Given the description of an element on the screen output the (x, y) to click on. 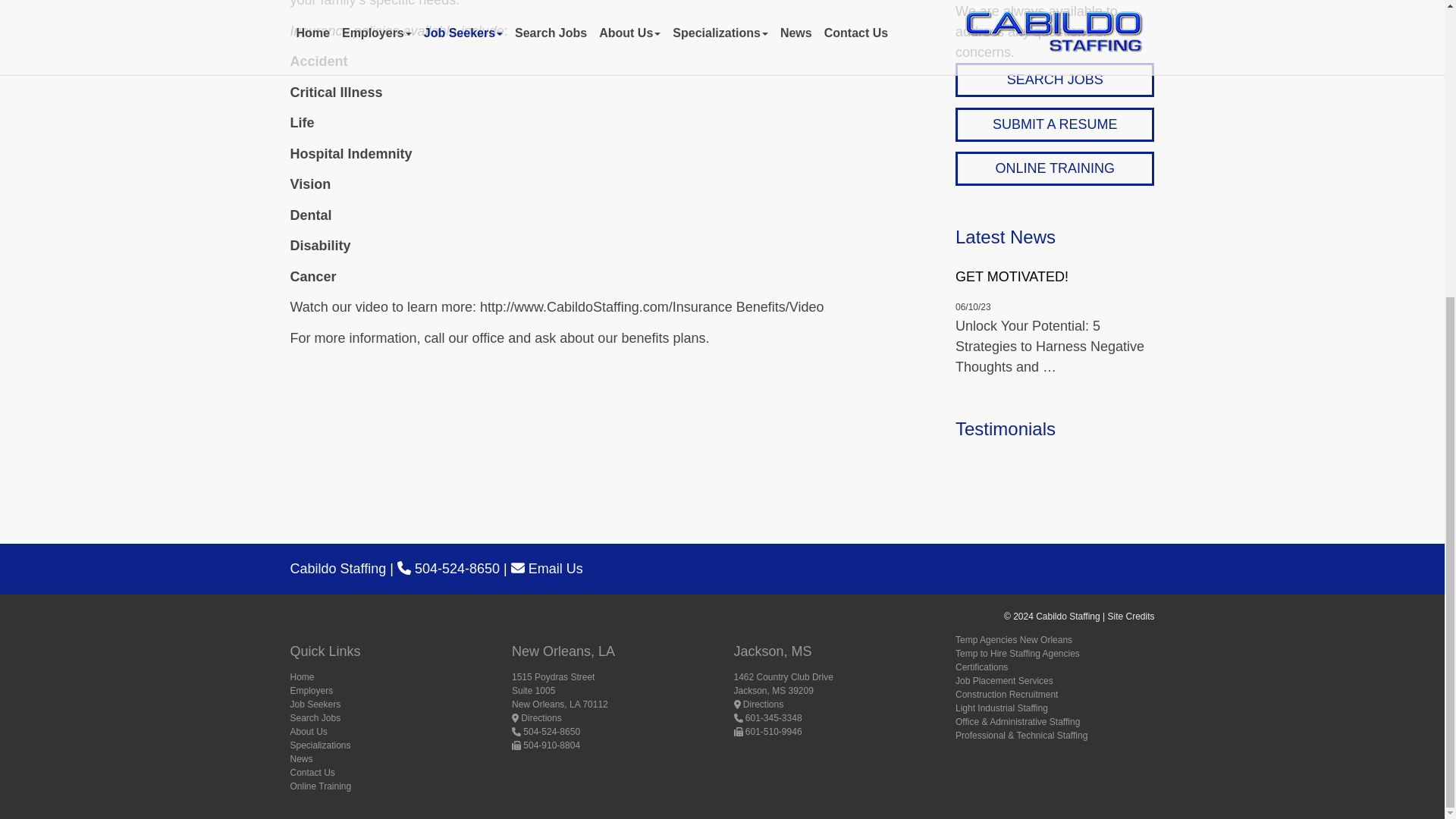
ONLINE TRAINING (1054, 168)
Home (301, 676)
GET MOTIVATED! (1054, 277)
Employers (311, 690)
Latest News (1005, 236)
SEARCH JOBS (1054, 80)
Latest News (1005, 236)
Email Us (547, 568)
SUBMIT A RESUME (1054, 124)
